Given the description of an element on the screen output the (x, y) to click on. 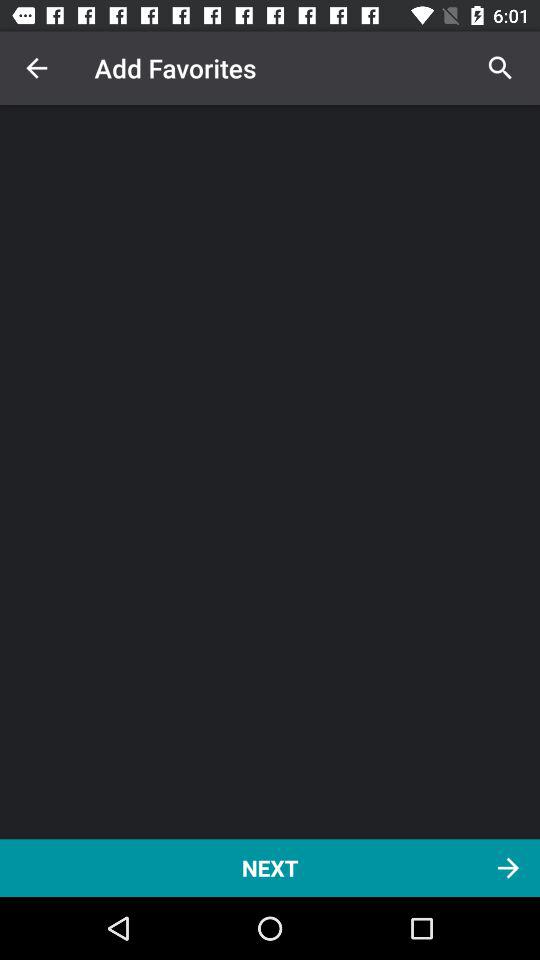
turn off icon next to add favorites item (500, 67)
